Given the description of an element on the screen output the (x, y) to click on. 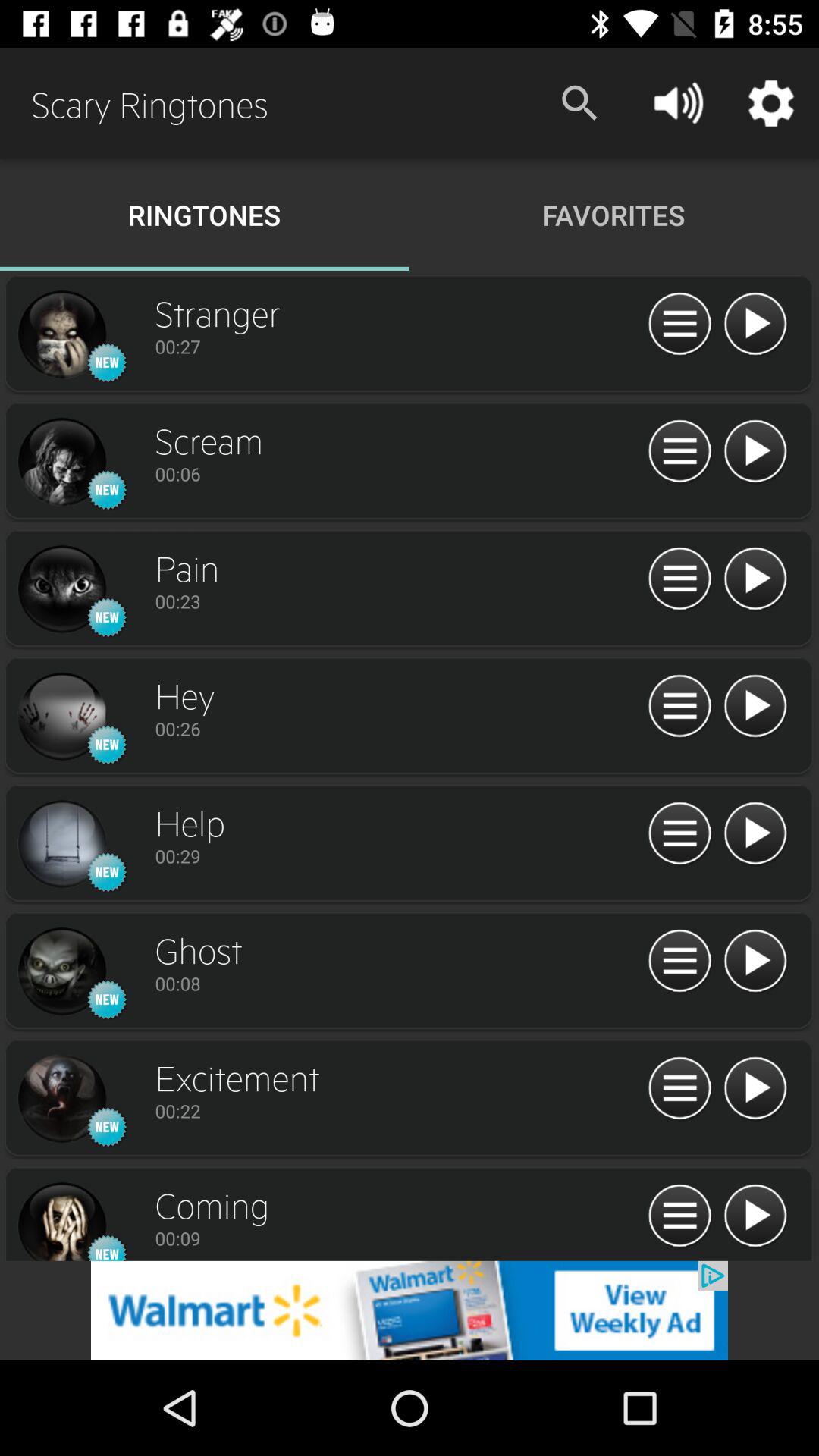
open menu for this song (679, 706)
